Given the description of an element on the screen output the (x, y) to click on. 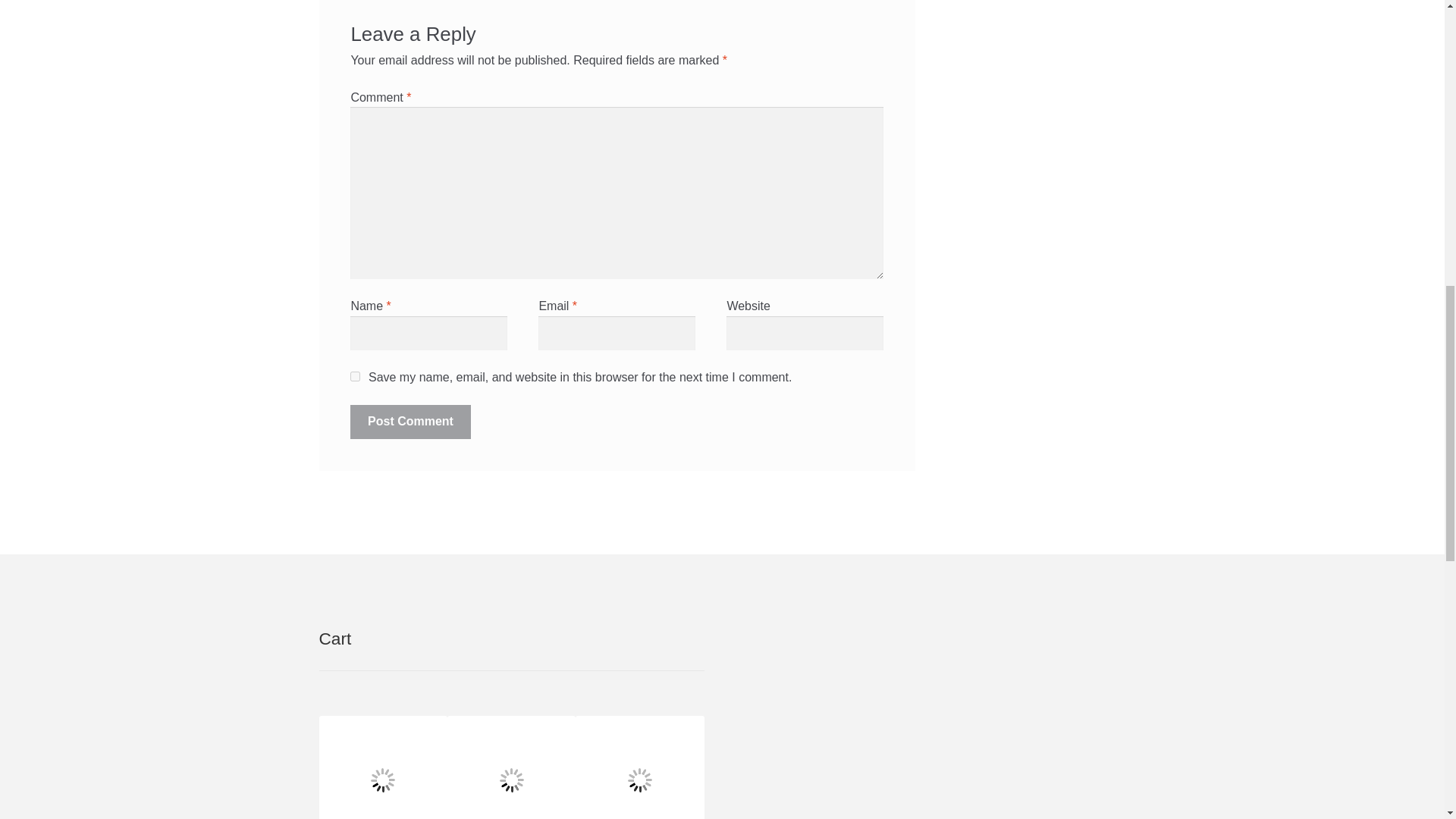
Post Comment (410, 421)
yes (354, 376)
Post Comment (410, 421)
